Given the description of an element on the screen output the (x, y) to click on. 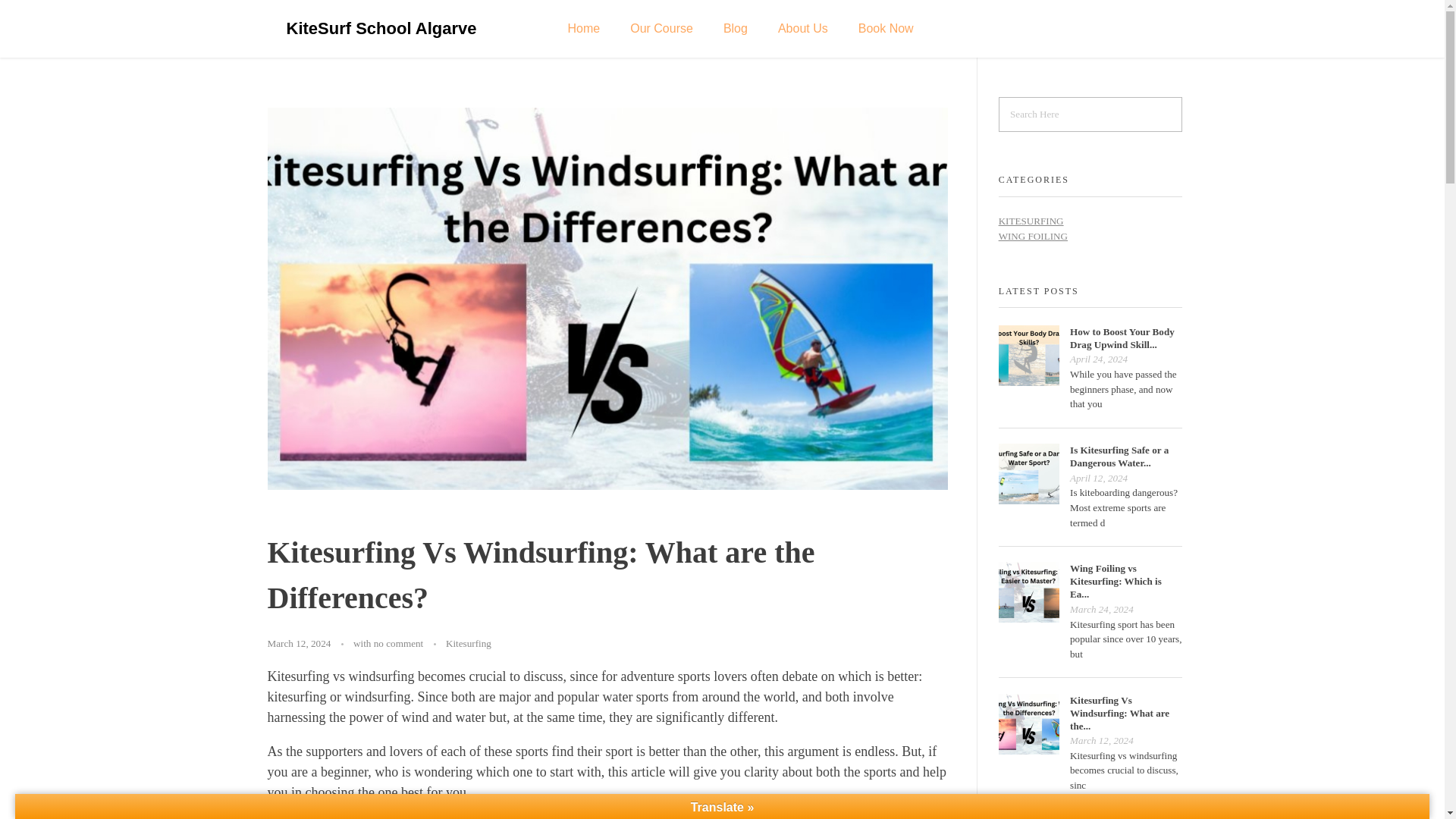
Book Now (885, 28)
How to Boost Your Body Drag Upwind Skill... (1122, 337)
WING FOILING (1032, 235)
Kitesurfing (468, 643)
Kitesurfing Vs Windsurfing: What are the... (1119, 713)
Search (40, 13)
Wing Foiling vs Kitesurfing: Which is Ea... (1115, 580)
Home (582, 28)
KITESURFING (1031, 220)
About Us (802, 28)
KiteSurf School Algarve (381, 27)
Is Kitesurfing Safe or a Dangerous Water... (1119, 456)
Blog (734, 28)
View all posts in Kitesurfing (468, 643)
Our Course (660, 28)
